Given the description of an element on the screen output the (x, y) to click on. 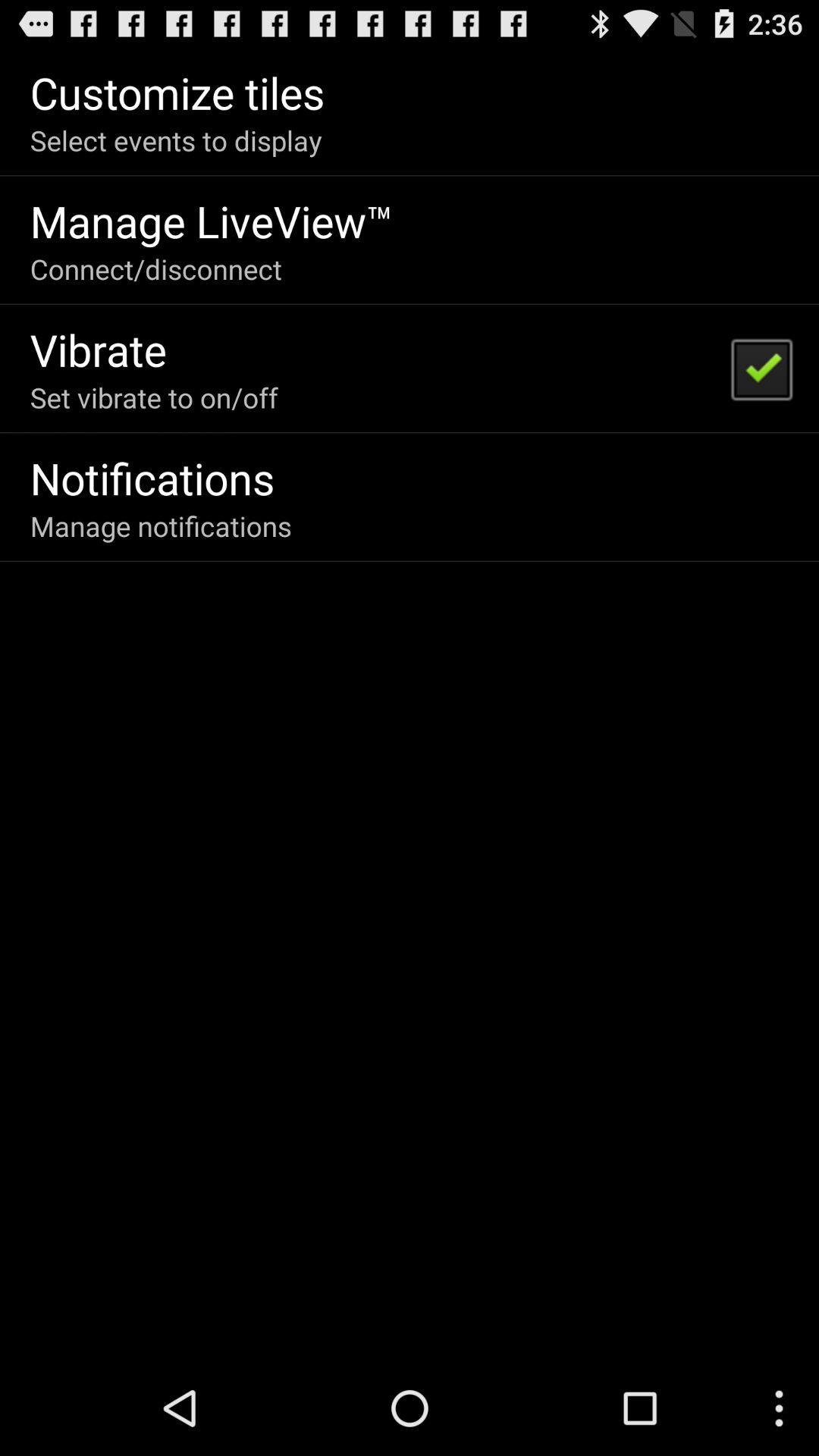
tap customize tiles (177, 92)
